Given the description of an element on the screen output the (x, y) to click on. 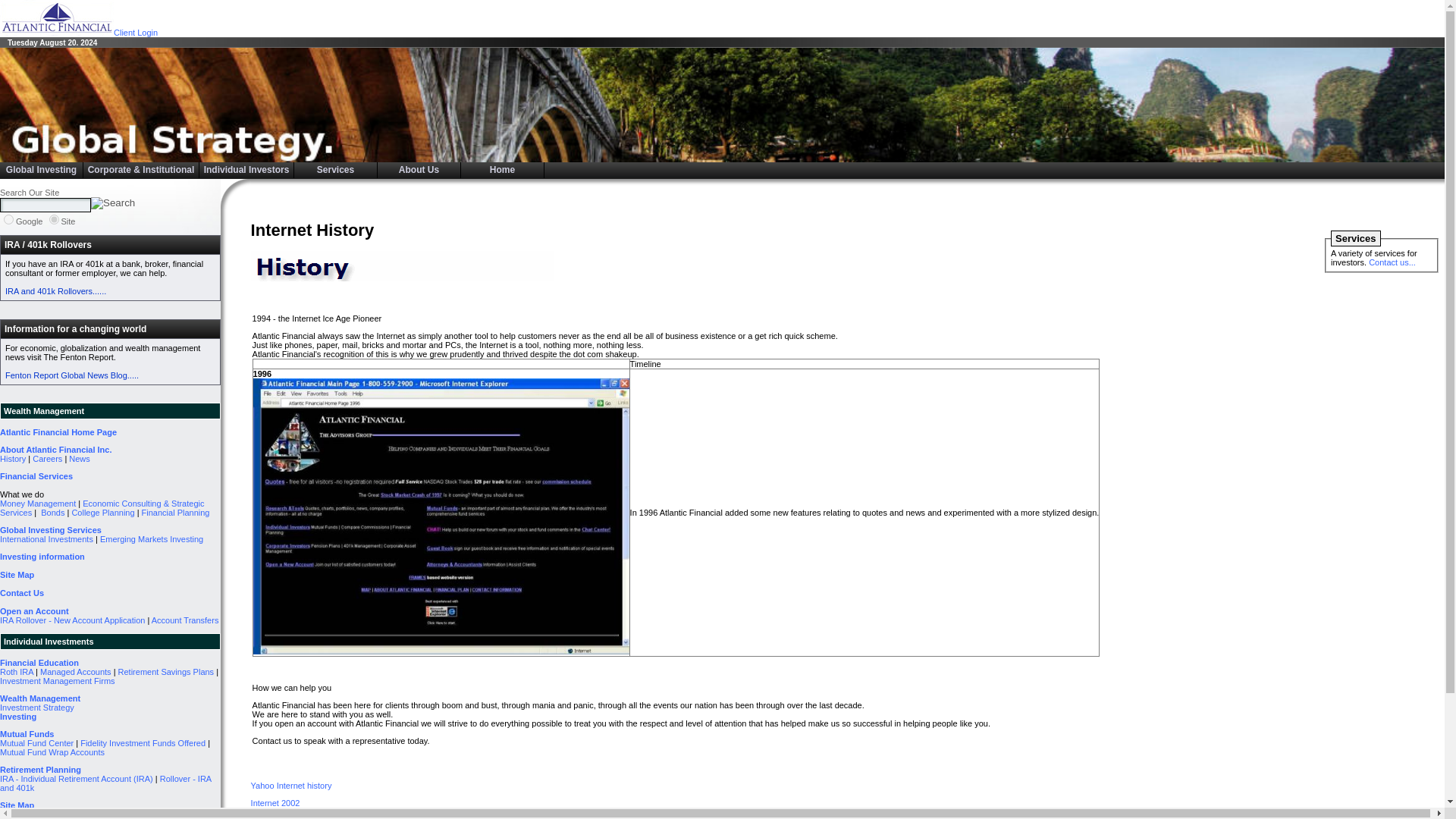
Individual Investors (246, 170)
atlanticfinancial.com (54, 219)
Global Investing (41, 170)
Client Login (135, 31)
